Given the description of an element on the screen output the (x, y) to click on. 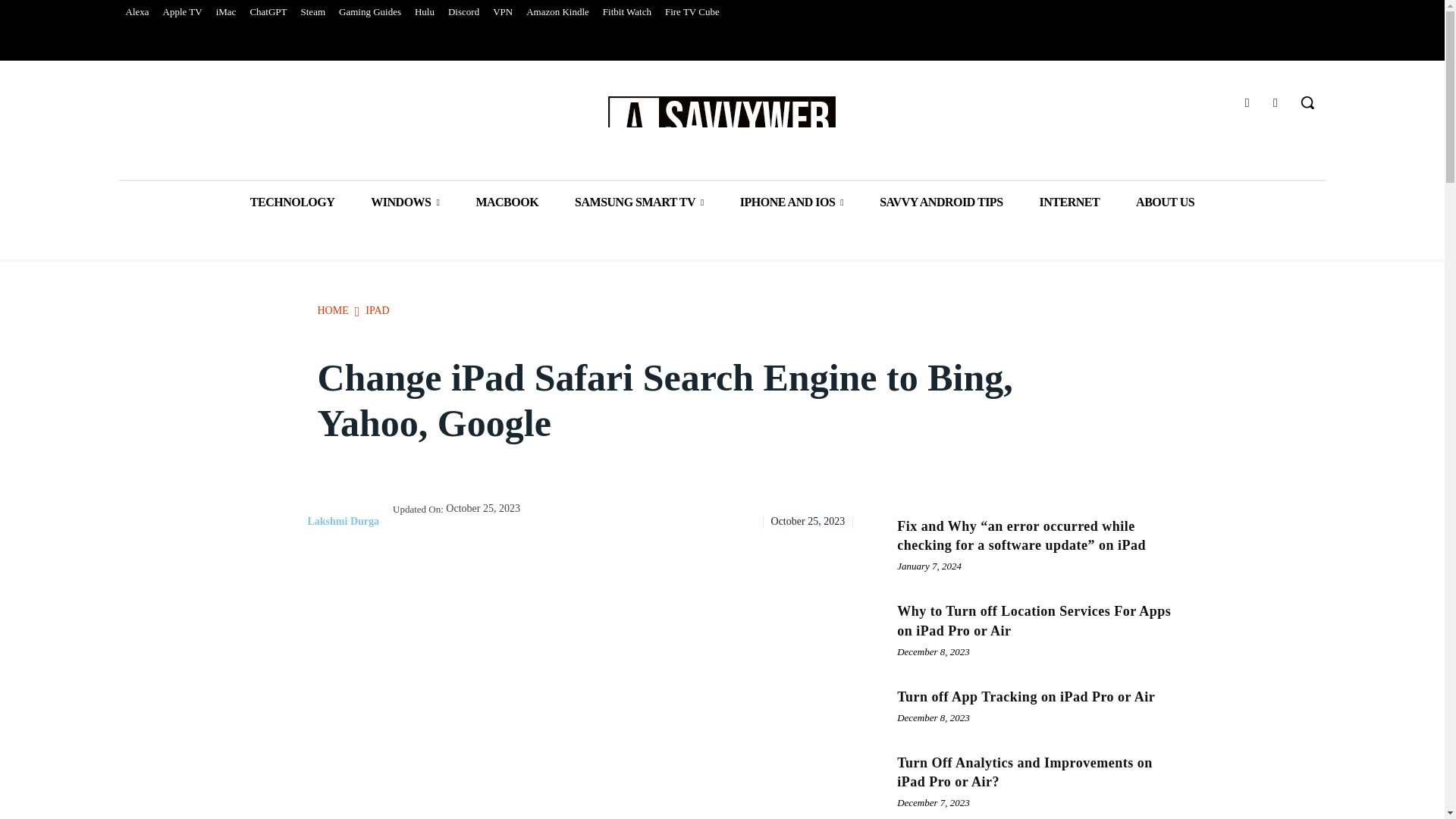
Alexa (136, 12)
VPN (502, 12)
Discord (463, 12)
iMac (226, 12)
Facebook (1246, 102)
Apple TV (182, 12)
Fitbit Watch (626, 12)
ChatGPT (268, 12)
Gaming Guides (369, 12)
Amazon Kindle (557, 12)
